Given the description of an element on the screen output the (x, y) to click on. 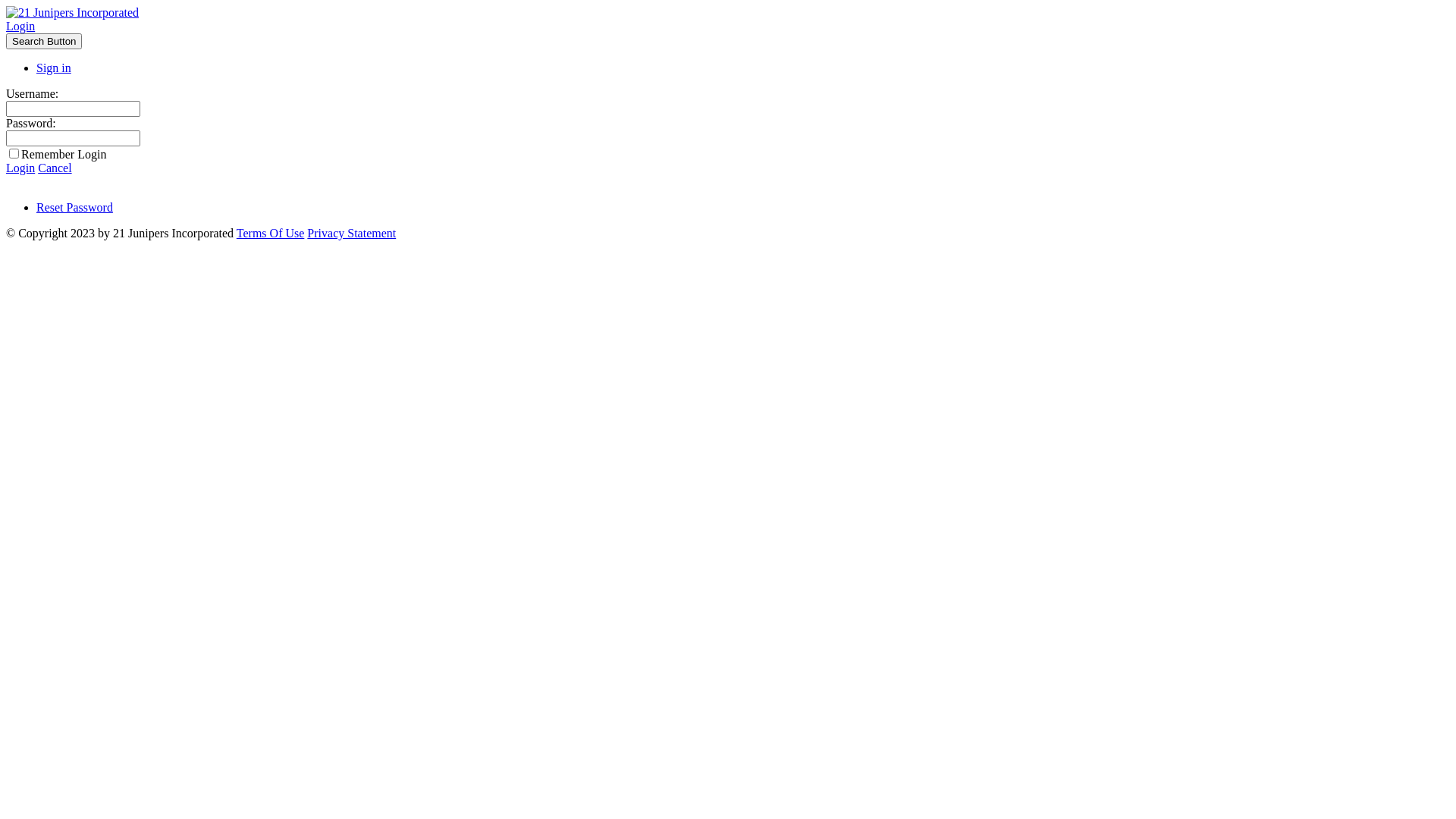
Terms Of Use Element type: text (270, 232)
Reset Password Element type: text (74, 206)
Privacy Statement Element type: text (351, 232)
Cancel Element type: text (54, 167)
Login Element type: text (20, 25)
Login Element type: text (20, 167)
Search Button Element type: text (43, 41)
21 Junipers Incorporated Element type: hover (72, 12)
Sign in Element type: text (53, 67)
